Given the description of an element on the screen output the (x, y) to click on. 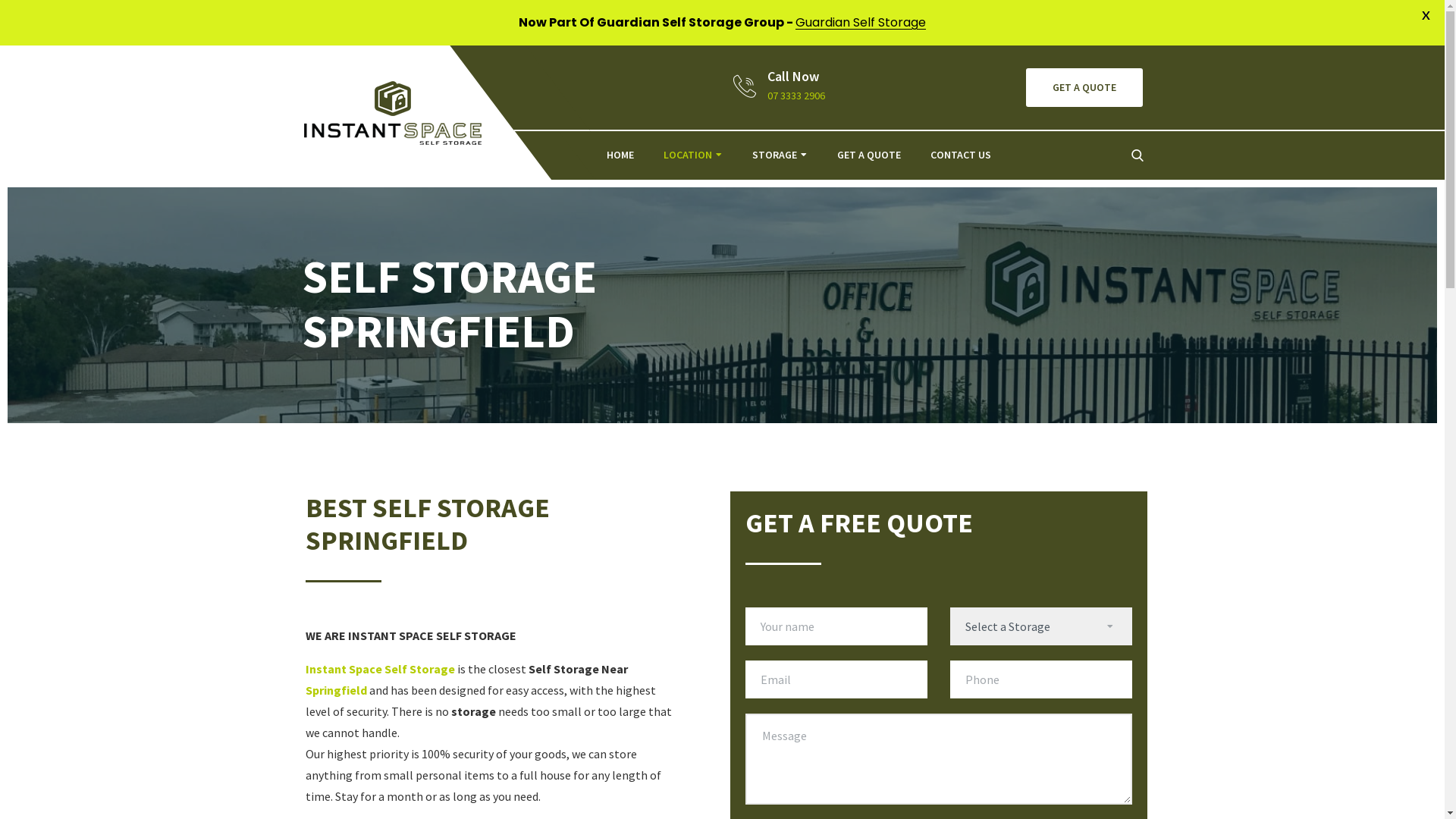
X Element type: text (1425, 14)
GET A QUOTE Element type: text (1084, 87)
Guardian Self Storage Element type: text (860, 22)
CONTACT US Element type: text (960, 154)
Instant Space Self Storage Element type: text (379, 668)
HOME Element type: text (619, 154)
Springfield Element type: text (335, 689)
GET A QUOTE Element type: text (868, 154)
STORAGE Element type: text (774, 154)
07 3333 2906 Element type: text (796, 95)
LOCATION Element type: text (687, 154)
